Given the description of an element on the screen output the (x, y) to click on. 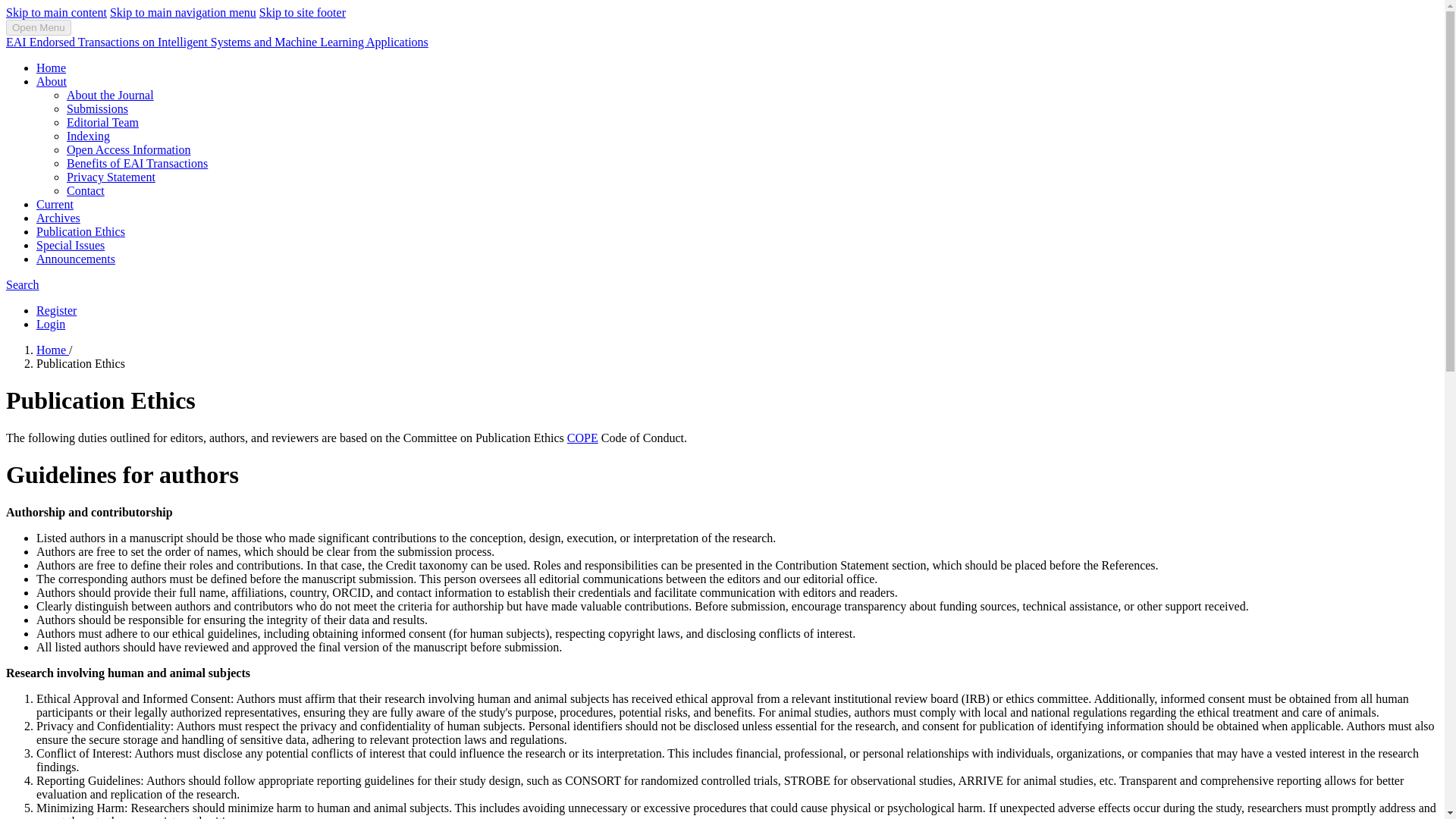
Skip to main content (55, 11)
Home (52, 349)
Privacy Statement (110, 176)
About (51, 81)
Open Menu (38, 27)
Skip to site footer (302, 11)
Editorial Team (102, 122)
Home (50, 67)
About the Journal (110, 94)
Publication Ethics (80, 231)
Current (55, 204)
Special Issues (70, 245)
Login (50, 323)
Archives (58, 217)
